Given the description of an element on the screen output the (x, y) to click on. 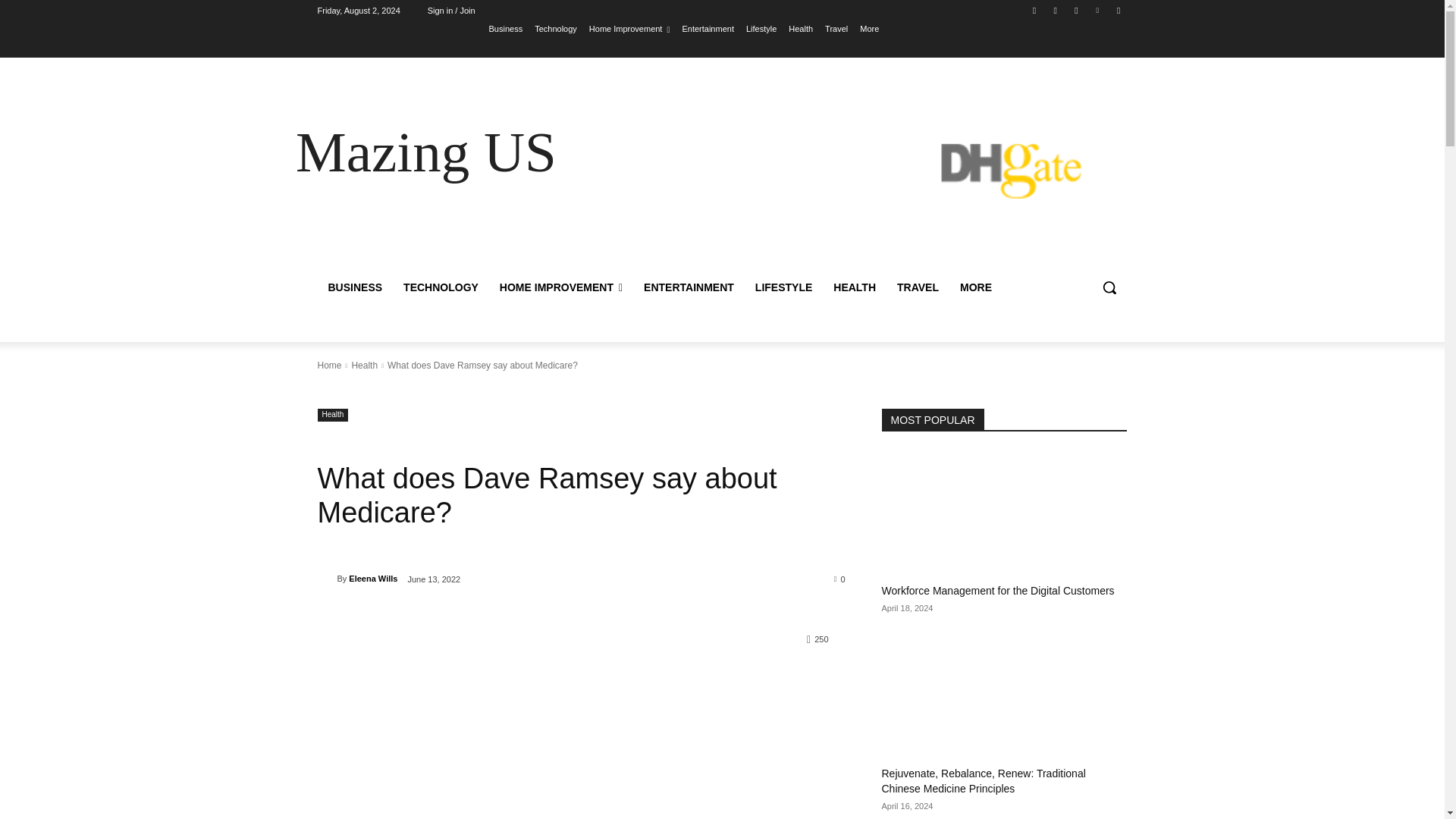
Twitter (1075, 9)
Business (505, 28)
TECHNOLOGY (441, 287)
Technology (555, 28)
Travel (836, 28)
Home Improvement (629, 28)
Eleena Wills (326, 578)
More (869, 28)
Mazing US (425, 152)
Entertainment (707, 28)
